Given the description of an element on the screen output the (x, y) to click on. 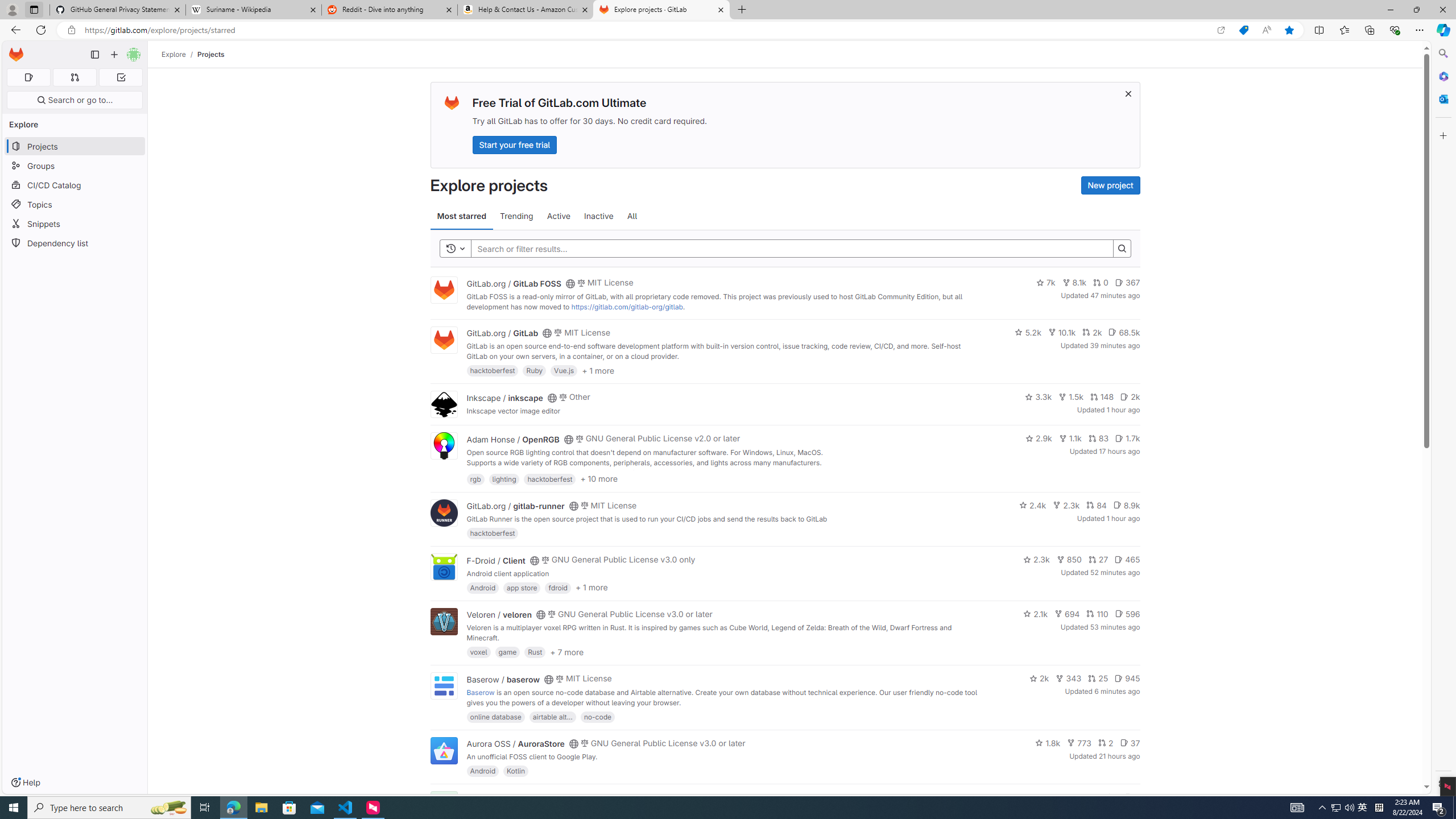
rgb (475, 478)
GitHub General Privacy Statement - GitHub Docs (117, 9)
All (632, 216)
Explore/ (179, 53)
Android (482, 770)
Help (25, 782)
5.2k (1027, 331)
Topics (74, 203)
hacktoberfest (492, 533)
2 (1105, 742)
343 (1068, 678)
